Given the description of an element on the screen output the (x, y) to click on. 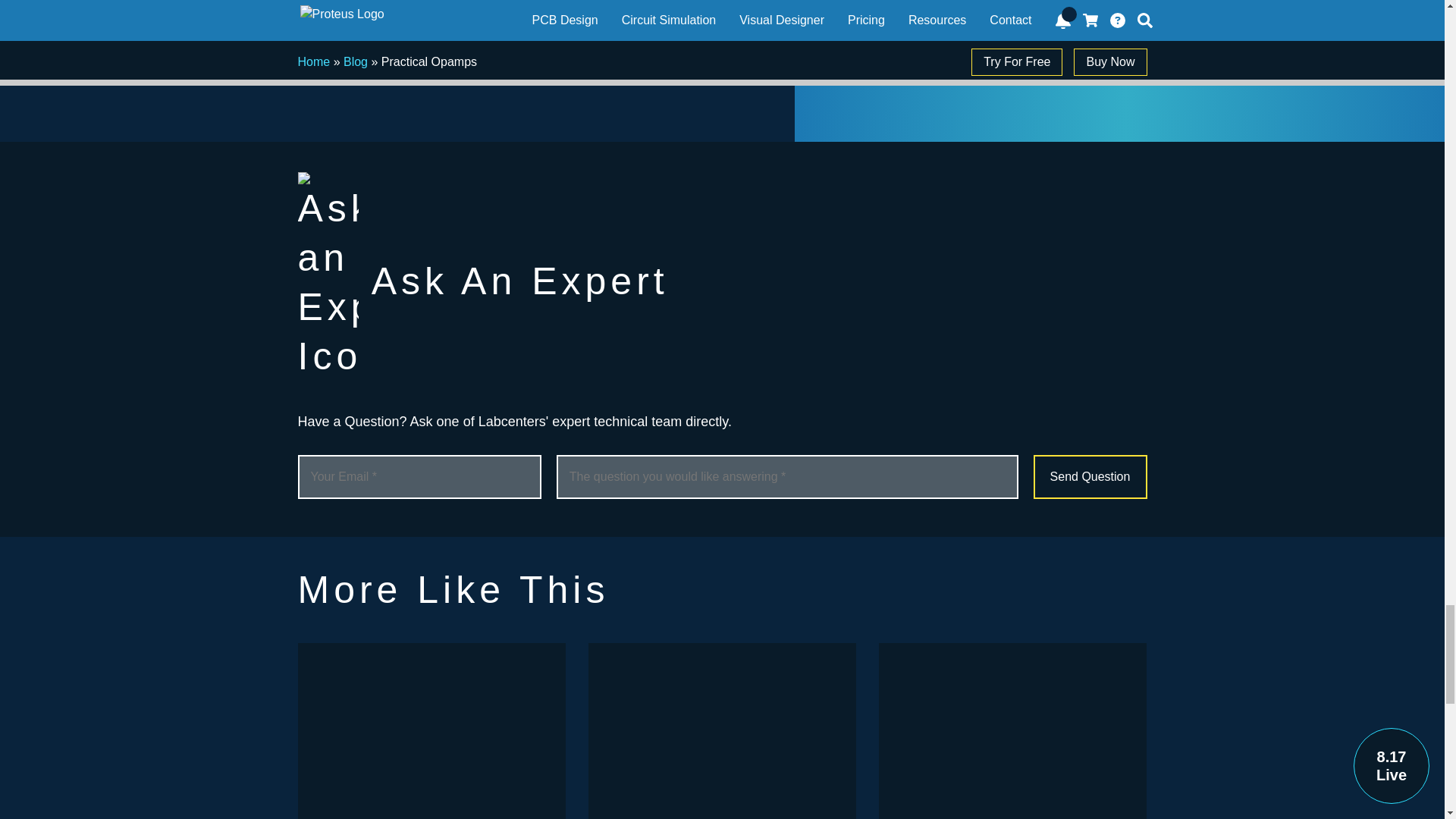
Send Question (1089, 476)
